Given the description of an element on the screen output the (x, y) to click on. 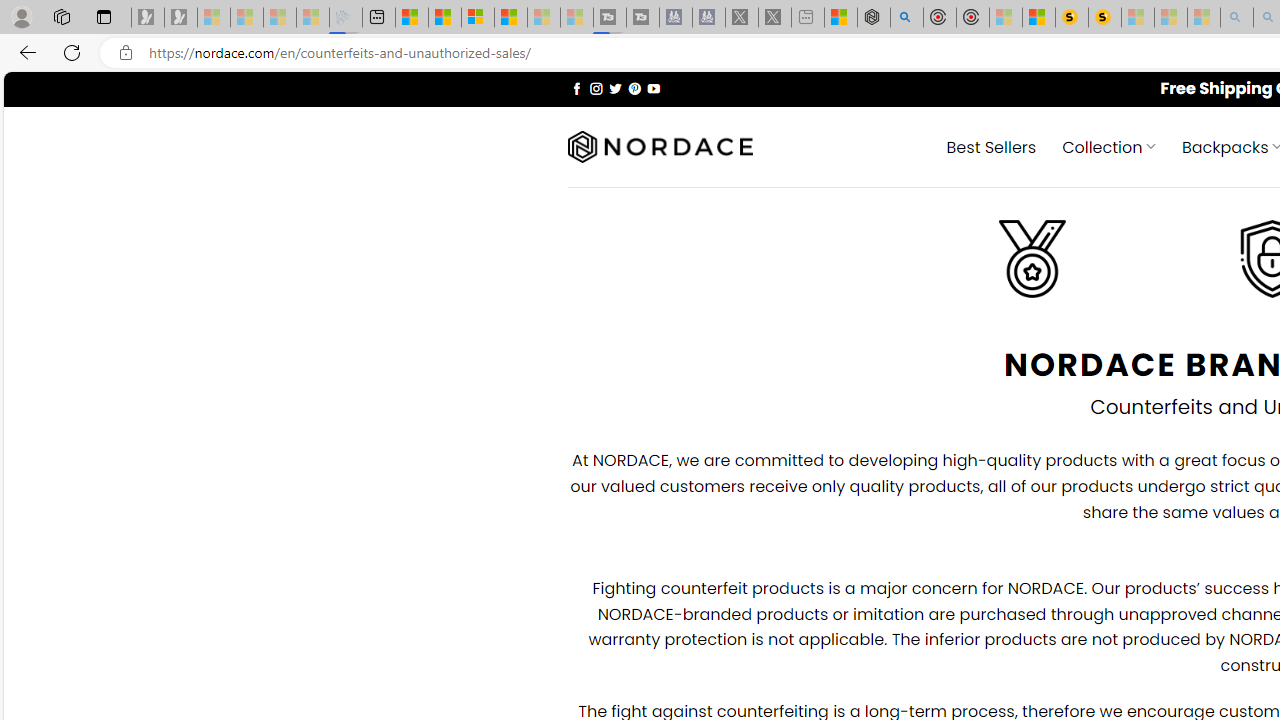
Newsletter Sign Up - Sleeping (181, 17)
Microsoft Start - Sleeping (543, 17)
poe - Search (906, 17)
 Best Sellers (990, 146)
